Given the description of an element on the screen output the (x, y) to click on. 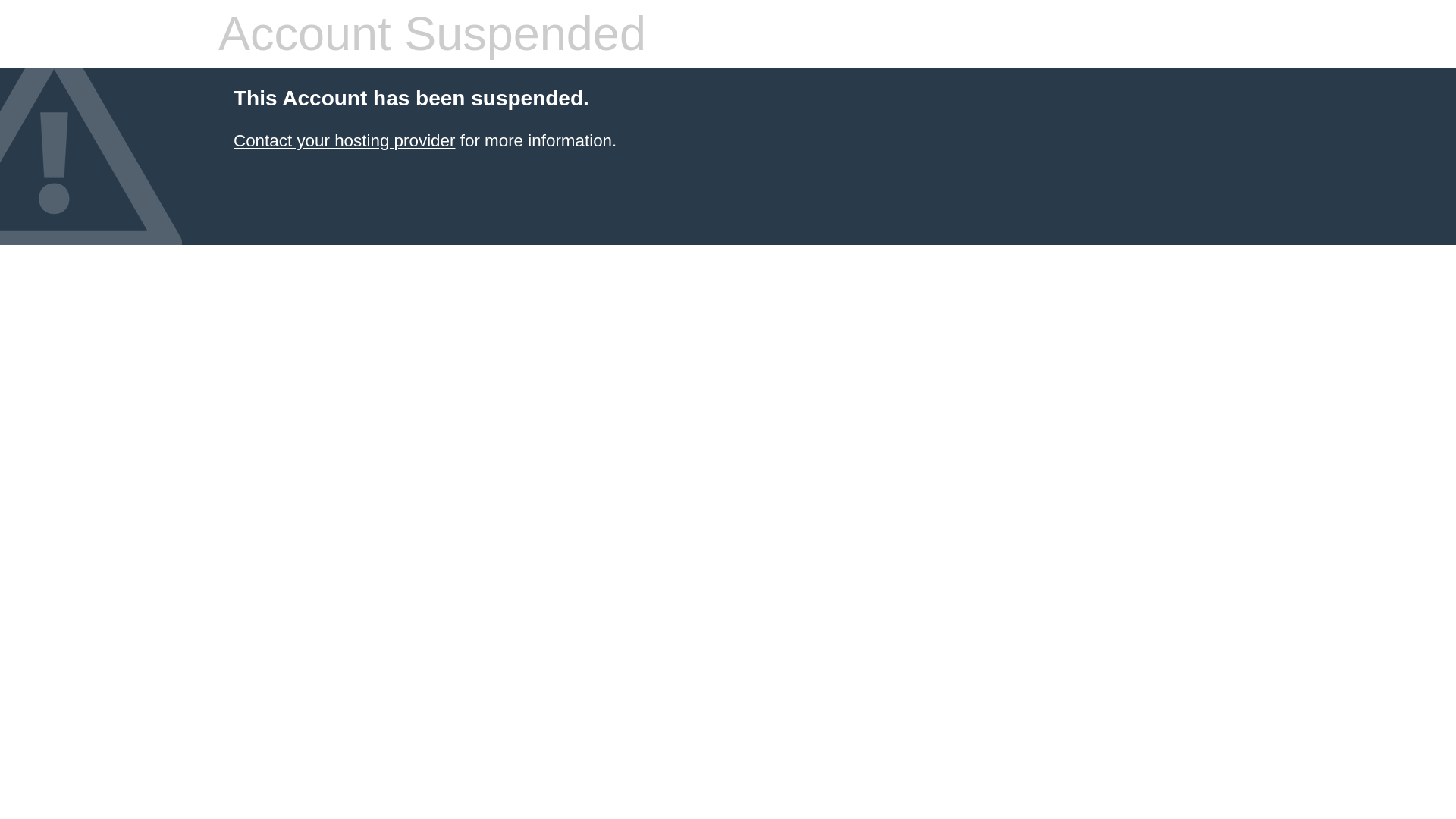
Contact your hosting provider (343, 140)
